Given the description of an element on the screen output the (x, y) to click on. 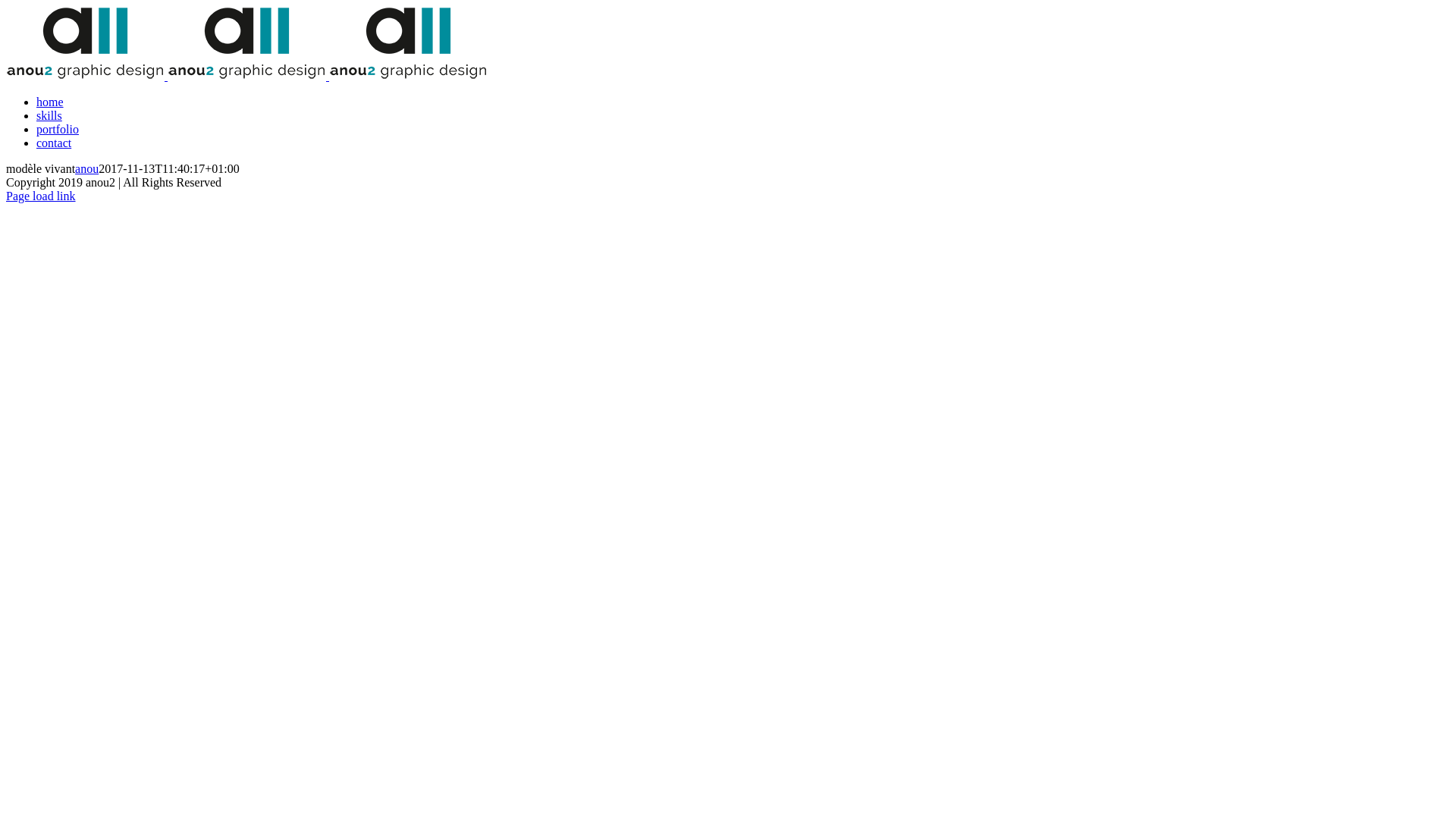
anou Element type: text (86, 168)
Page load link Element type: text (40, 195)
home Element type: text (49, 101)
Passer au contenu Element type: text (5, 5)
skills Element type: text (49, 115)
portfolio Element type: text (57, 128)
contact Element type: text (53, 142)
